Given the description of an element on the screen output the (x, y) to click on. 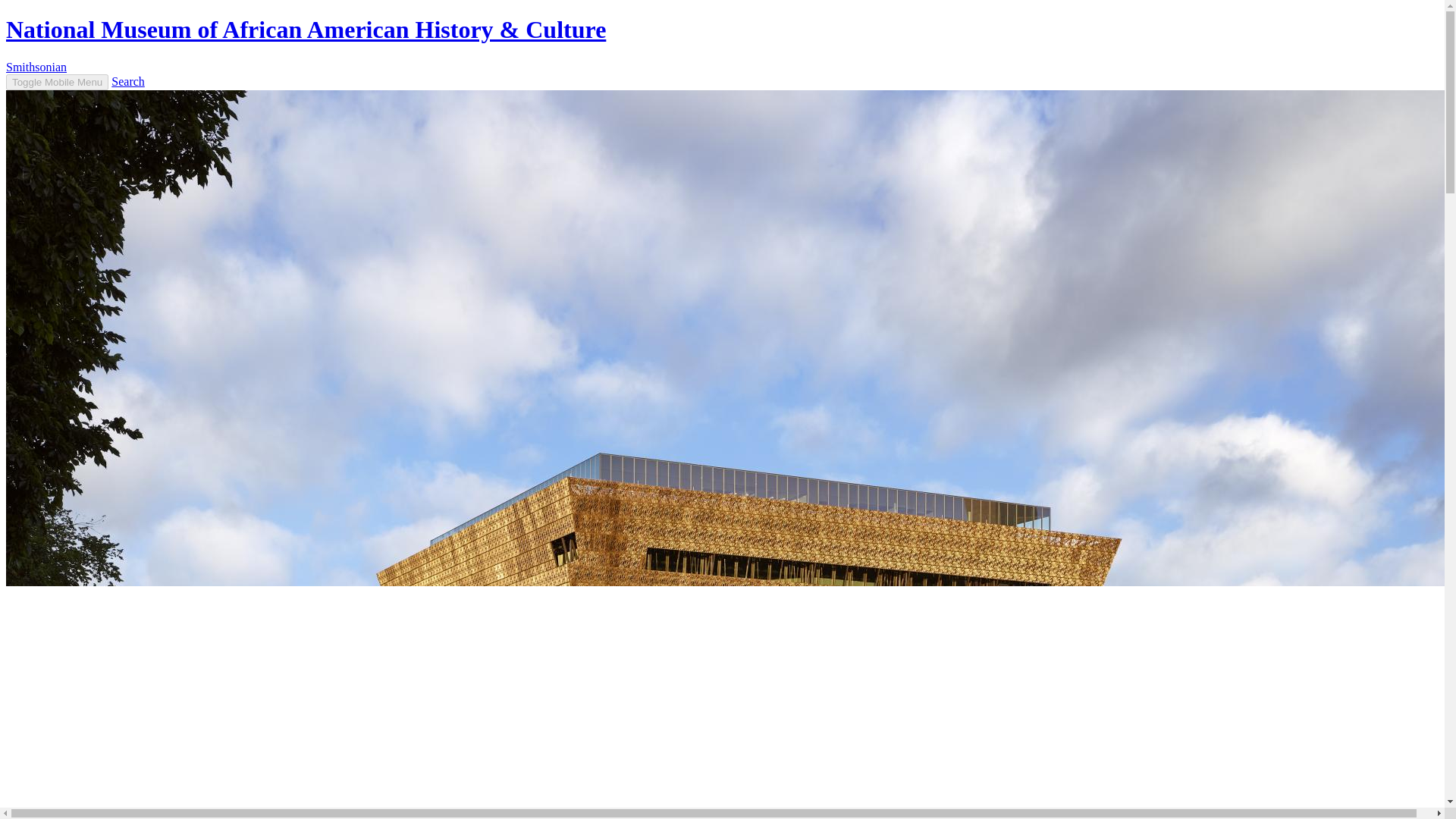
Smithsonian (35, 66)
Toggle Mobile Menu (56, 82)
Search (128, 81)
